Given the description of an element on the screen output the (x, y) to click on. 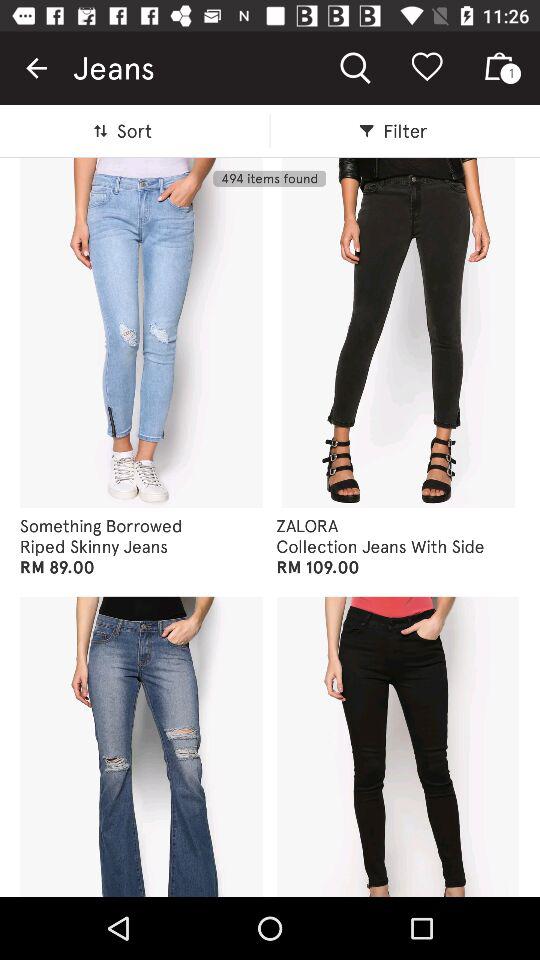
press item next to jeans item (36, 68)
